Given the description of an element on the screen output the (x, y) to click on. 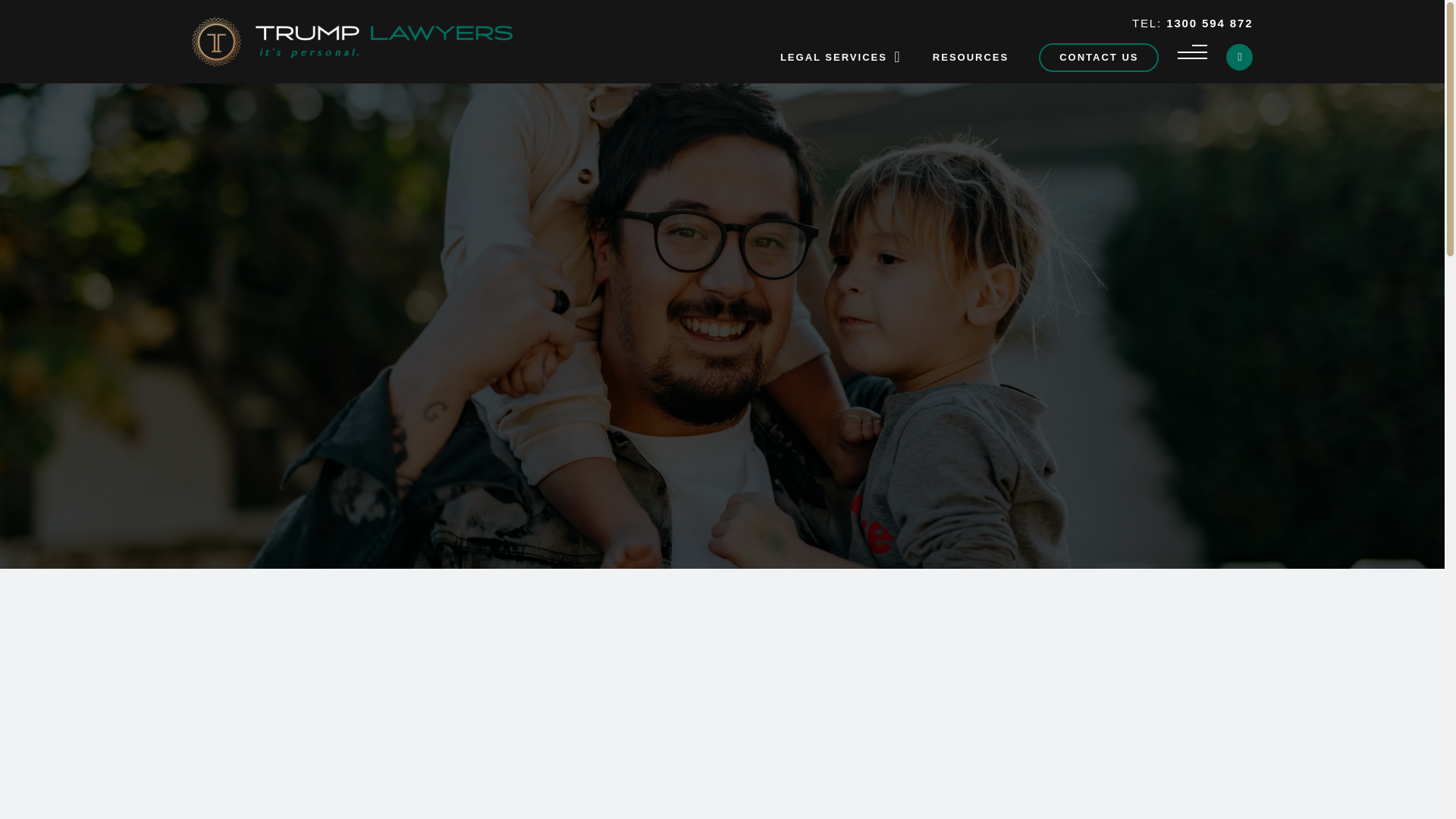
RESOURCES (971, 57)
TEL: 1300 594 872 (1192, 22)
CONTACT US (1098, 56)
LEGAL SERVICES (833, 57)
Trump Lawyers (351, 62)
